Given the description of an element on the screen output the (x, y) to click on. 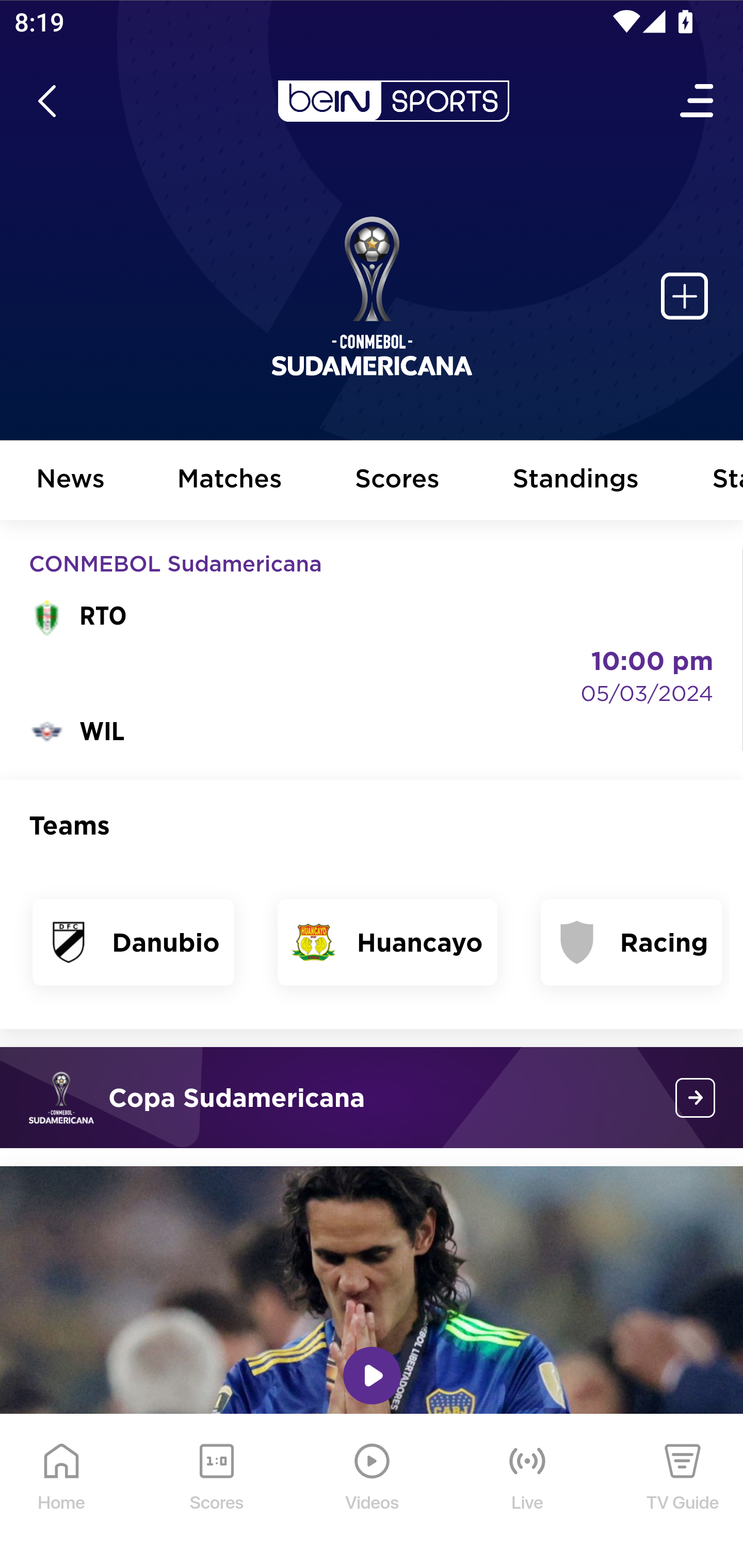
en-us?platform=mobile_android bein logo white (392, 101)
icon back (46, 101)
Open Menu Icon (697, 101)
News (70, 480)
Matches (229, 480)
Scores (397, 480)
Standings (575, 480)
Danubio Danubio Danubio (133, 942)
Huancayo Huancayo Huancayo (387, 942)
Racing (631, 942)
conmebol-sudamericana?platform=mobile_android (695, 1097)
Home Home Icon Home (61, 1491)
Scores Scores Icon Scores (216, 1491)
Videos Videos Icon Videos (372, 1491)
TV Guide TV Guide Icon TV Guide (682, 1491)
